Given the description of an element on the screen output the (x, y) to click on. 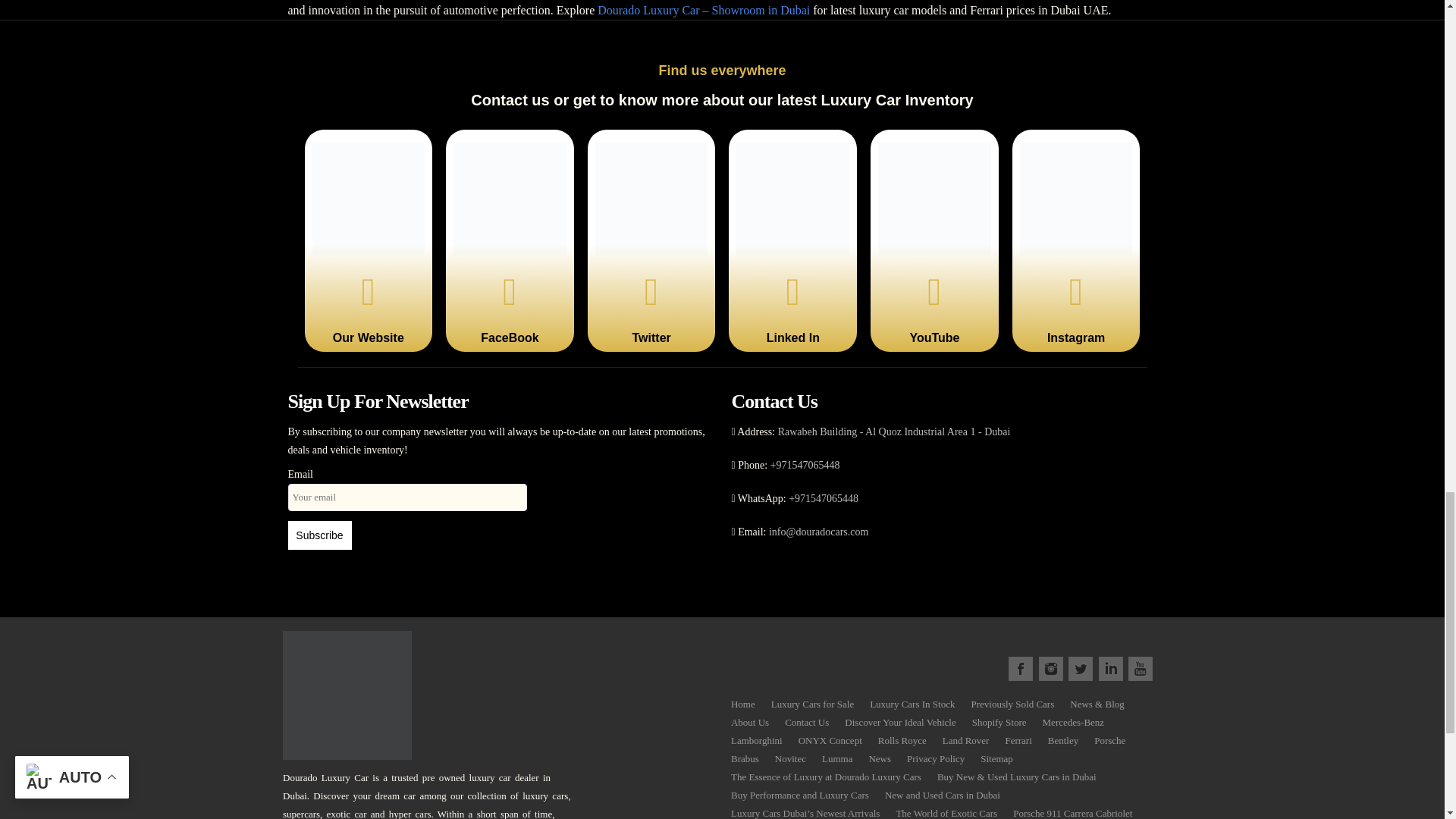
Subscribe (320, 534)
